Given the description of an element on the screen output the (x, y) to click on. 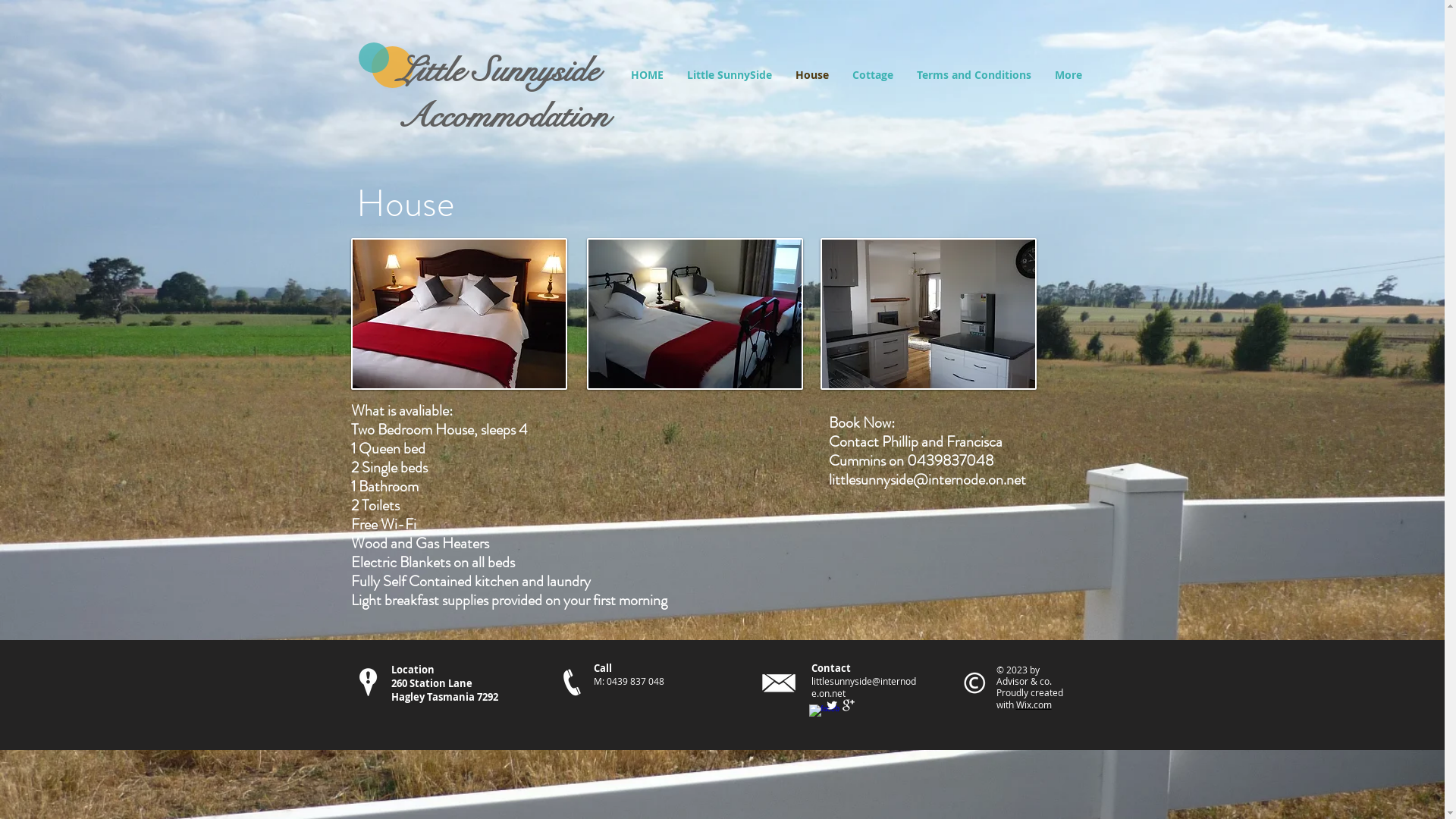
HOME Element type: text (646, 74)
littlesunnyside@internode.on.net Element type: text (863, 686)
Little SunnySide Element type: text (728, 74)
littlesunnyside@internode.on.net Element type: text (926, 479)
Cottage Element type: text (872, 74)
P1030862.JPG Element type: hover (458, 313)
Wix.com Element type: text (1033, 704)
Terms and Conditions Element type: text (974, 74)
P1030630.JPG Element type: hover (928, 313)
P1030859.JPG Element type: hover (694, 313)
House Element type: text (812, 74)
